Given the description of an element on the screen output the (x, y) to click on. 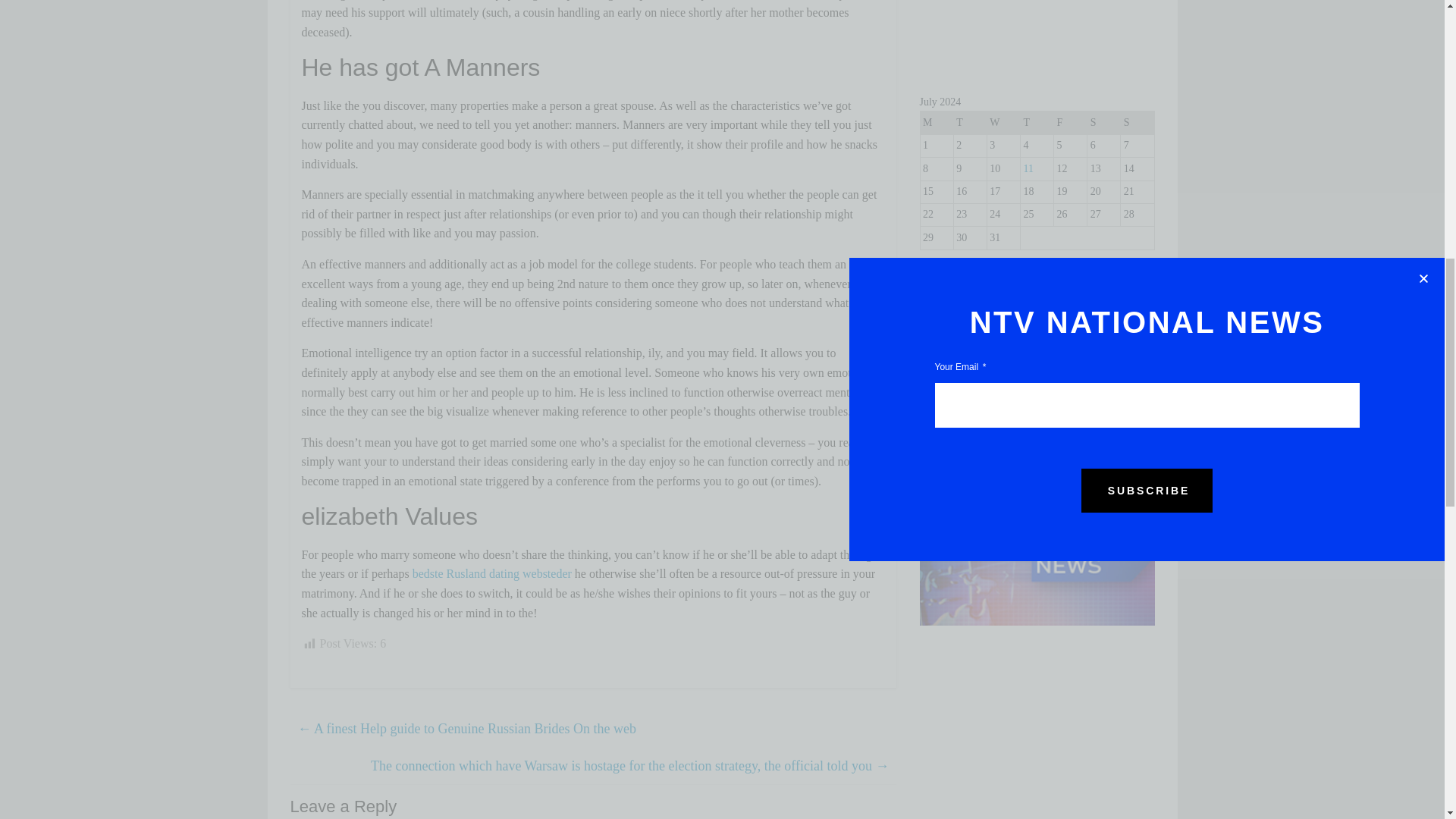
bedste Rusland dating websteder (492, 573)
